Given the description of an element on the screen output the (x, y) to click on. 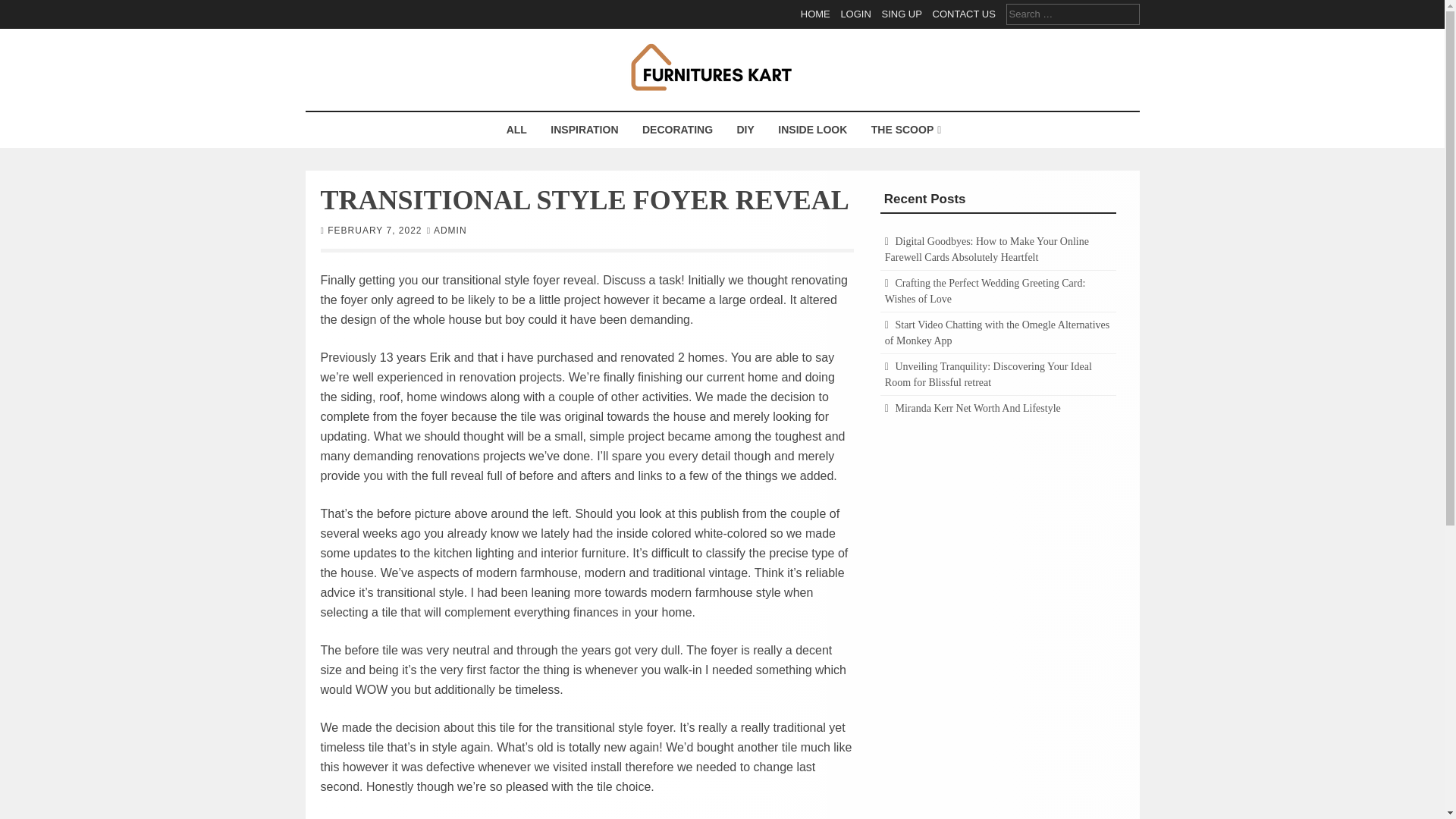
SING UP (900, 13)
ALL (516, 130)
Crafting the Perfect Wedding Greeting Card: Wishes of Love (985, 290)
Search (23, 9)
LOGIN (855, 13)
INSIDE LOOK (812, 130)
ADMIN (450, 229)
Miranda Kerr Net Worth And Lifestyle (977, 408)
FEBRUARY 7, 2022 (374, 229)
HOME (814, 13)
INSPIRATION (583, 130)
DECORATING (676, 130)
